Given the description of an element on the screen output the (x, y) to click on. 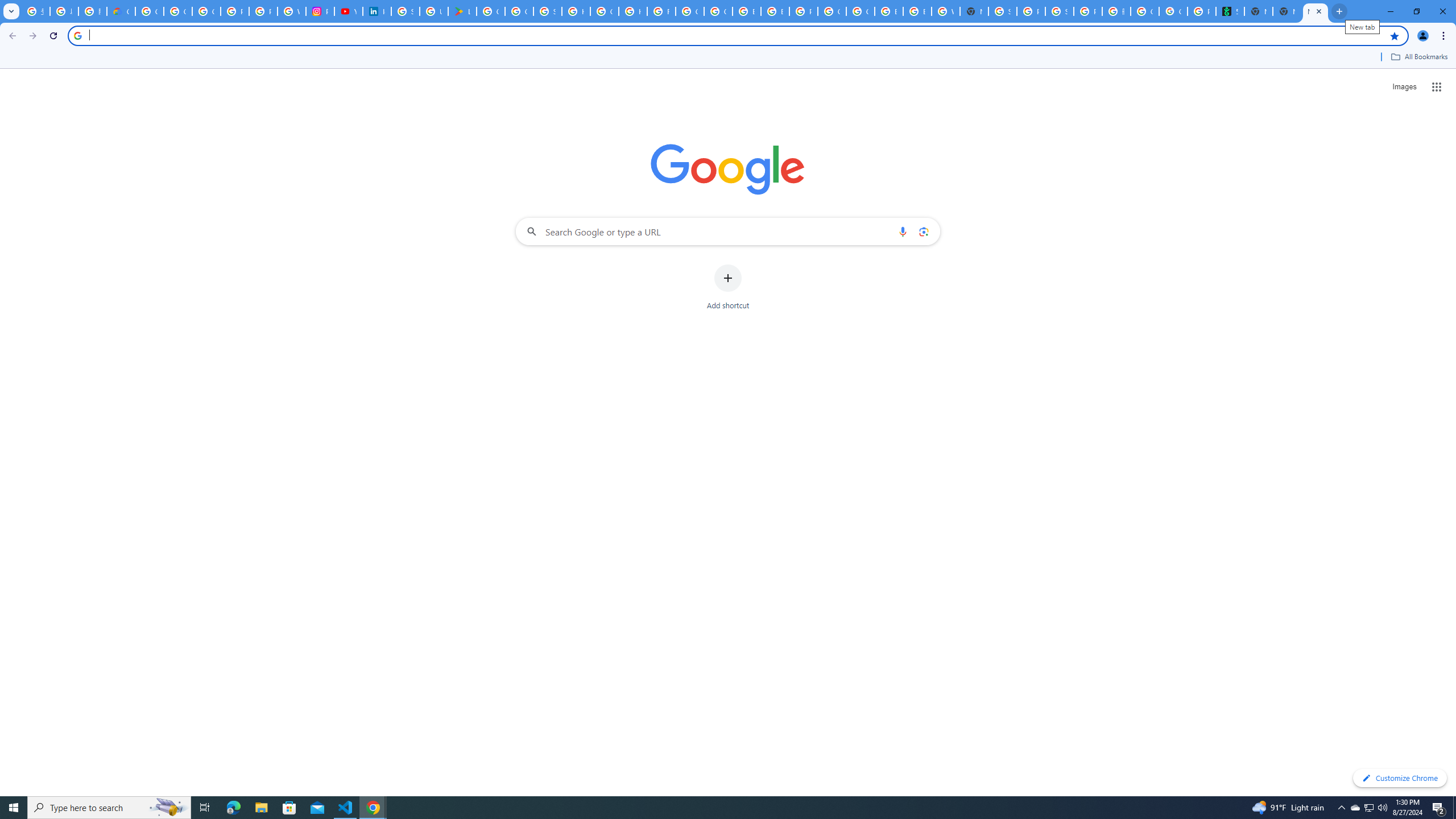
Search Google or type a URL (727, 230)
Sign in - Google Accounts (405, 11)
New Tab (1287, 11)
YouTube Culture & Trends - On The Rise: Handcam Videos (348, 11)
Last Shelter: Survival - Apps on Google Play (461, 11)
Add shortcut (727, 287)
How do I create a new Google Account? - Google Account Help (632, 11)
